Given the description of an element on the screen output the (x, y) to click on. 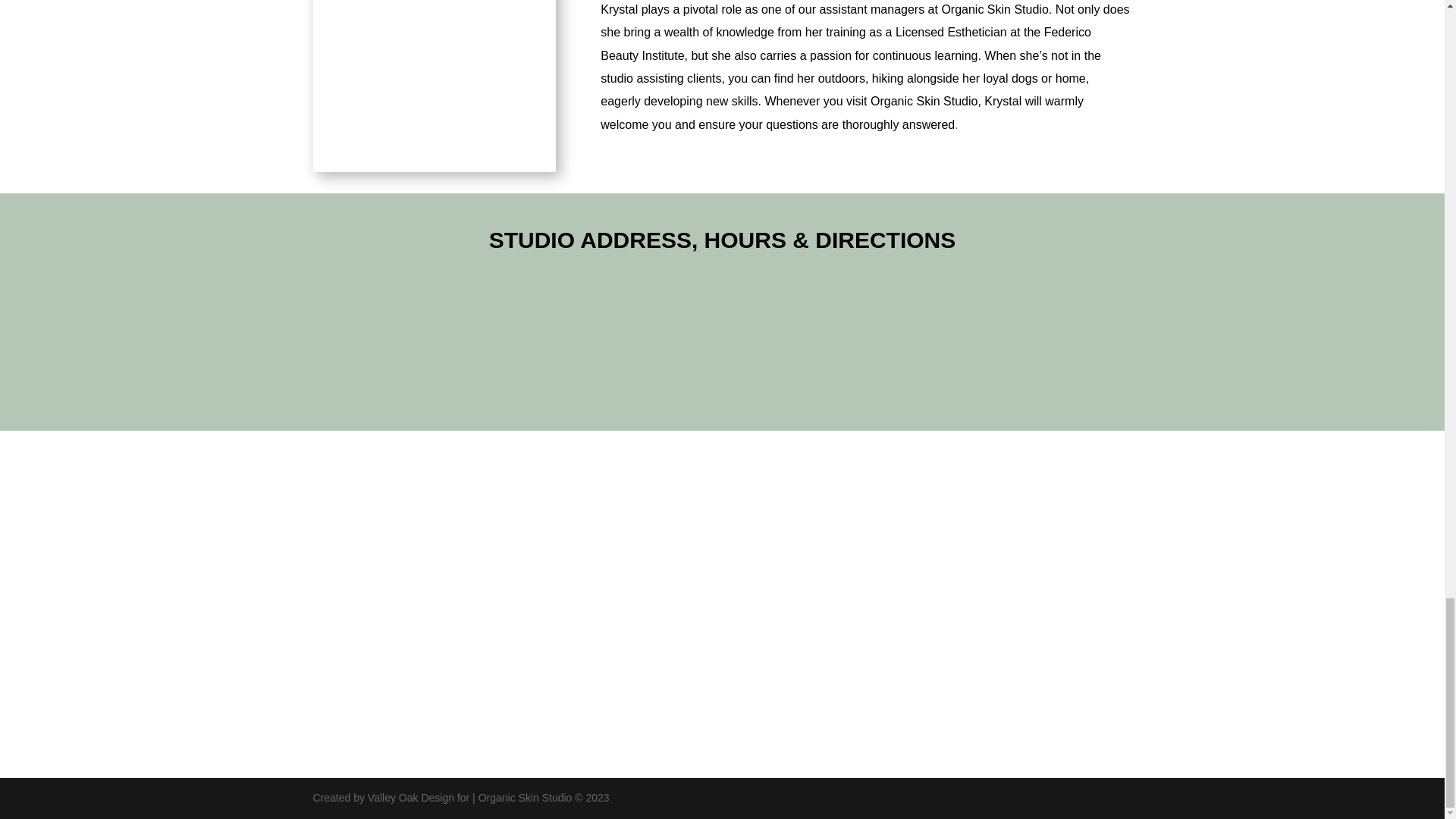
Krystal-grad-lt (433, 85)
